Given the description of an element on the screen output the (x, y) to click on. 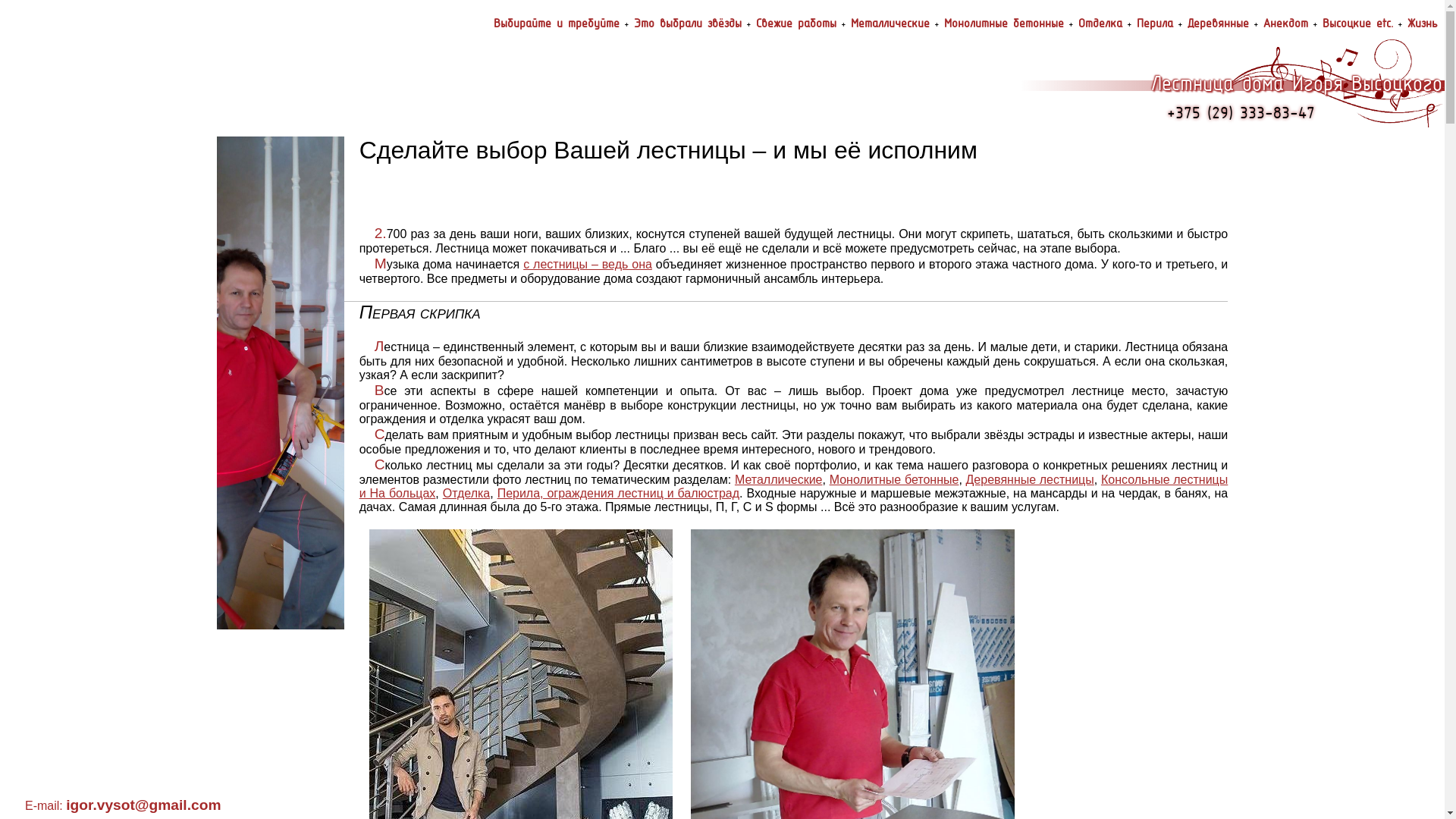
igor.vysot@gmail.com Element type: text (142, 804)
+375 (29) 333-83-47 Element type: text (1240, 112)
